Given the description of an element on the screen output the (x, y) to click on. 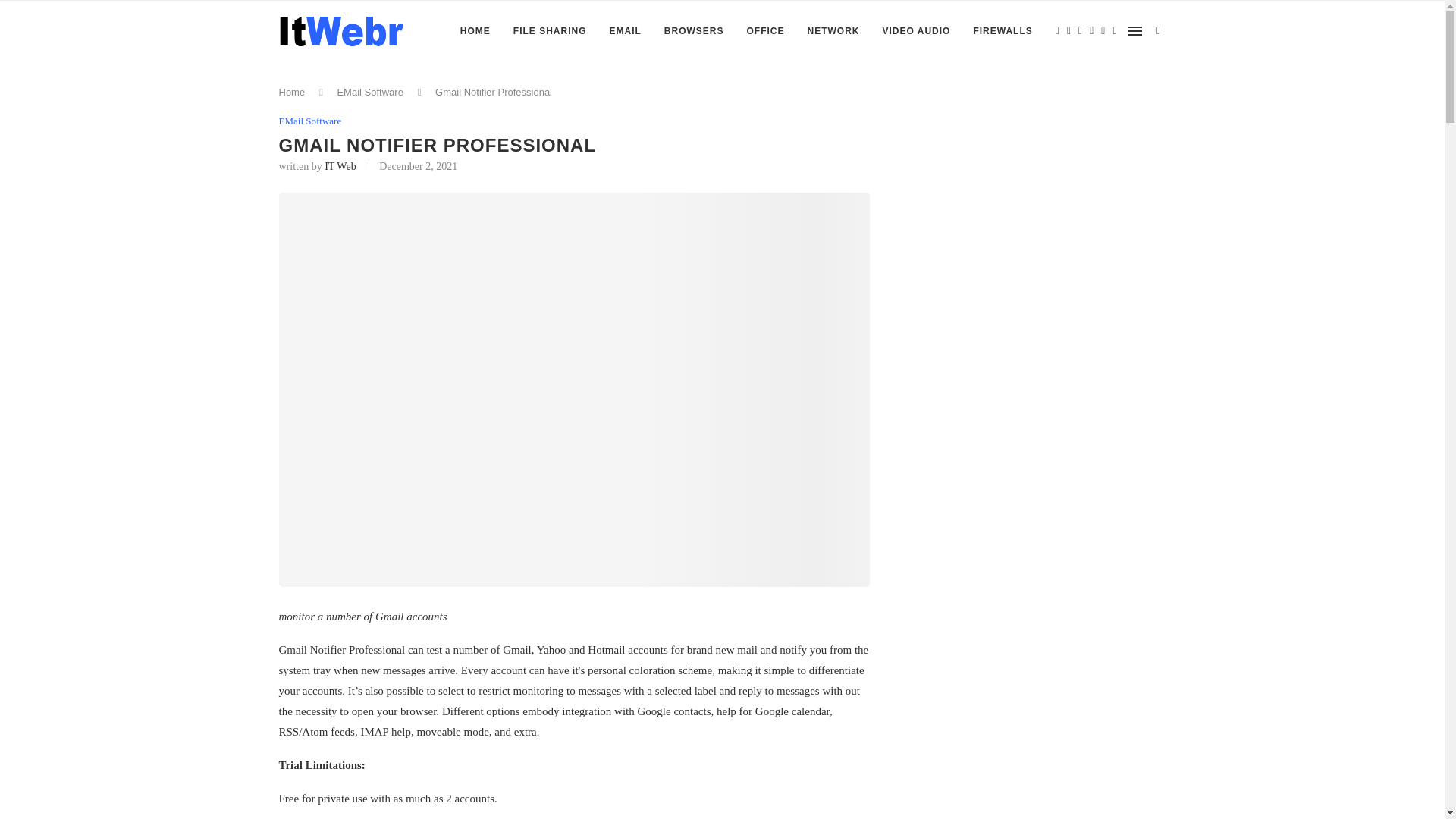
EMail Software (310, 121)
FILE SHARING (549, 30)
BROWSERS (693, 30)
VIDEO AUDIO (916, 30)
Home (292, 91)
FIREWALLS (1002, 30)
IT Web (340, 165)
EMail Software (369, 91)
